Given the description of an element on the screen output the (x, y) to click on. 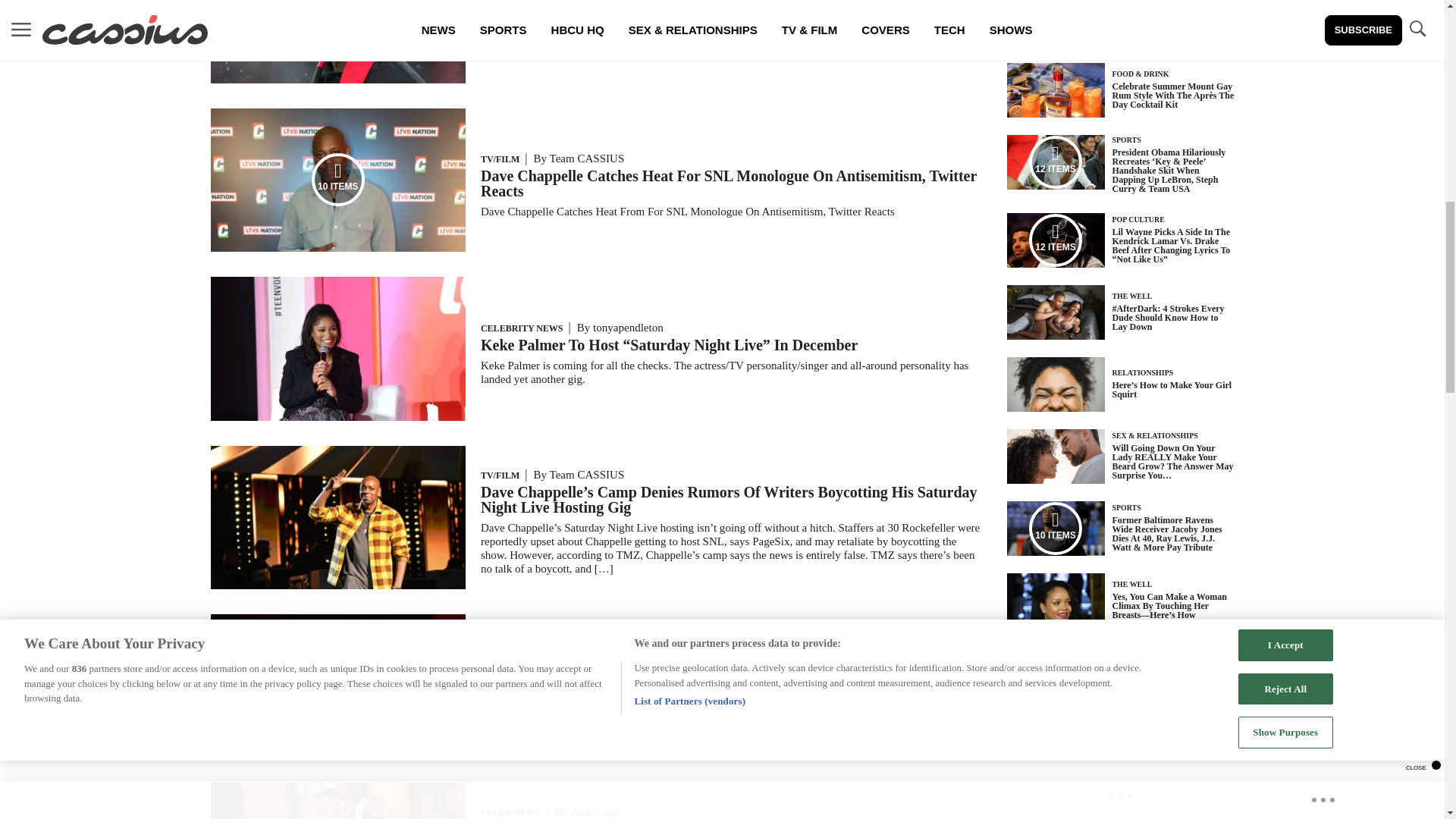
12 ITEMS (338, 753)
Media Playlist (1055, 162)
Media Playlist (1055, 239)
10 ITEMS (338, 246)
CELEBRITY NEWS (521, 327)
Media Playlist (1055, 528)
CELEB NEWS (510, 812)
Team CASSIUS (587, 474)
tonyapendleton (627, 327)
Media Playlist (338, 685)
Team CASSIUS (587, 158)
Team CASSIUS (587, 650)
Media Playlist (338, 179)
